Given the description of an element on the screen output the (x, y) to click on. 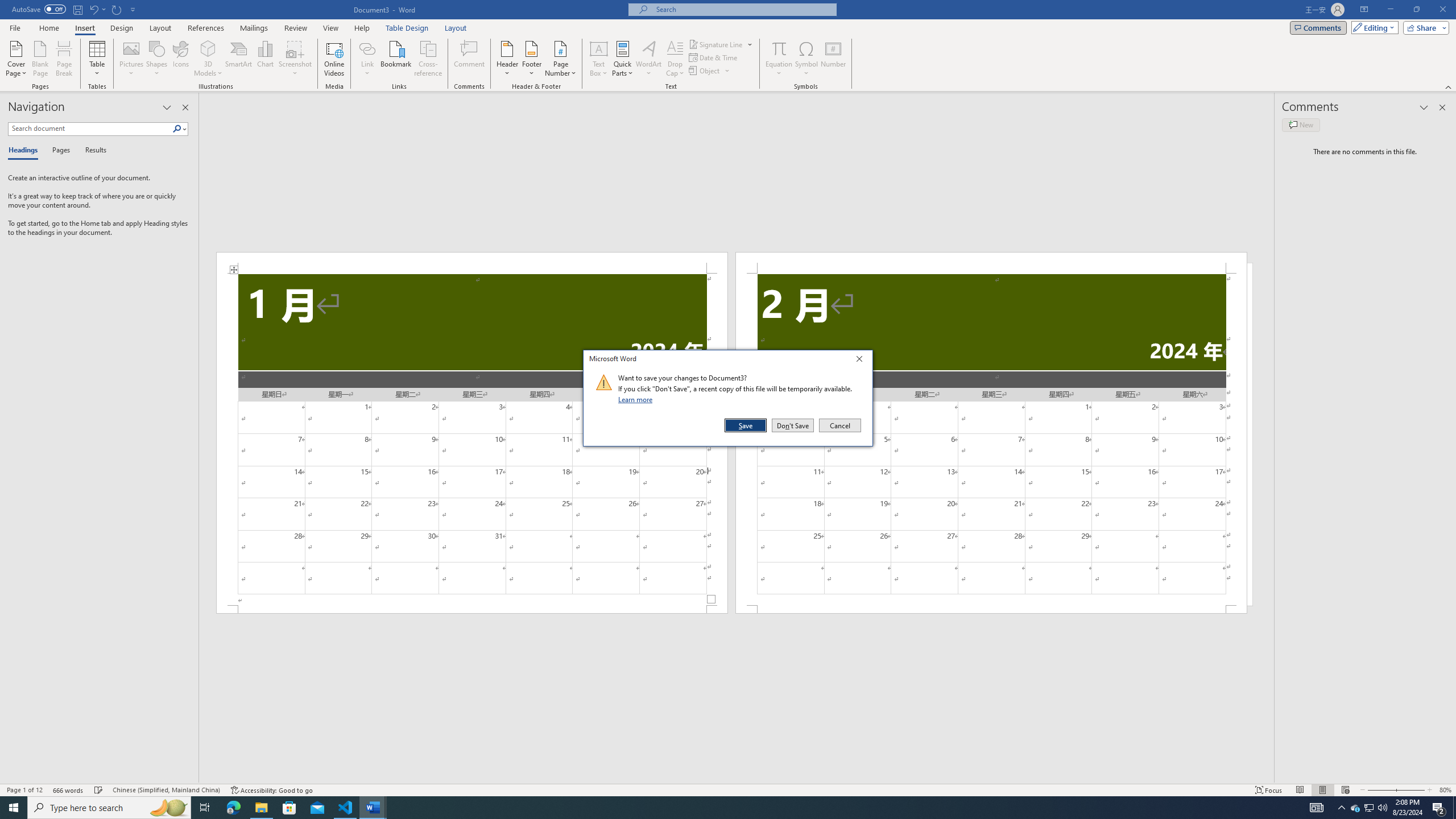
Class: MsoCommandBar (728, 789)
Pictures (131, 58)
Read Mode (1299, 790)
Customize Quick Access Toolbar (133, 9)
Search document (89, 128)
View (330, 28)
Drop Cap (674, 58)
Bookmark... (396, 58)
Cover Page (16, 58)
Home (48, 28)
File Explorer - 1 running window (261, 807)
Layout (455, 28)
